Given the description of an element on the screen output the (x, y) to click on. 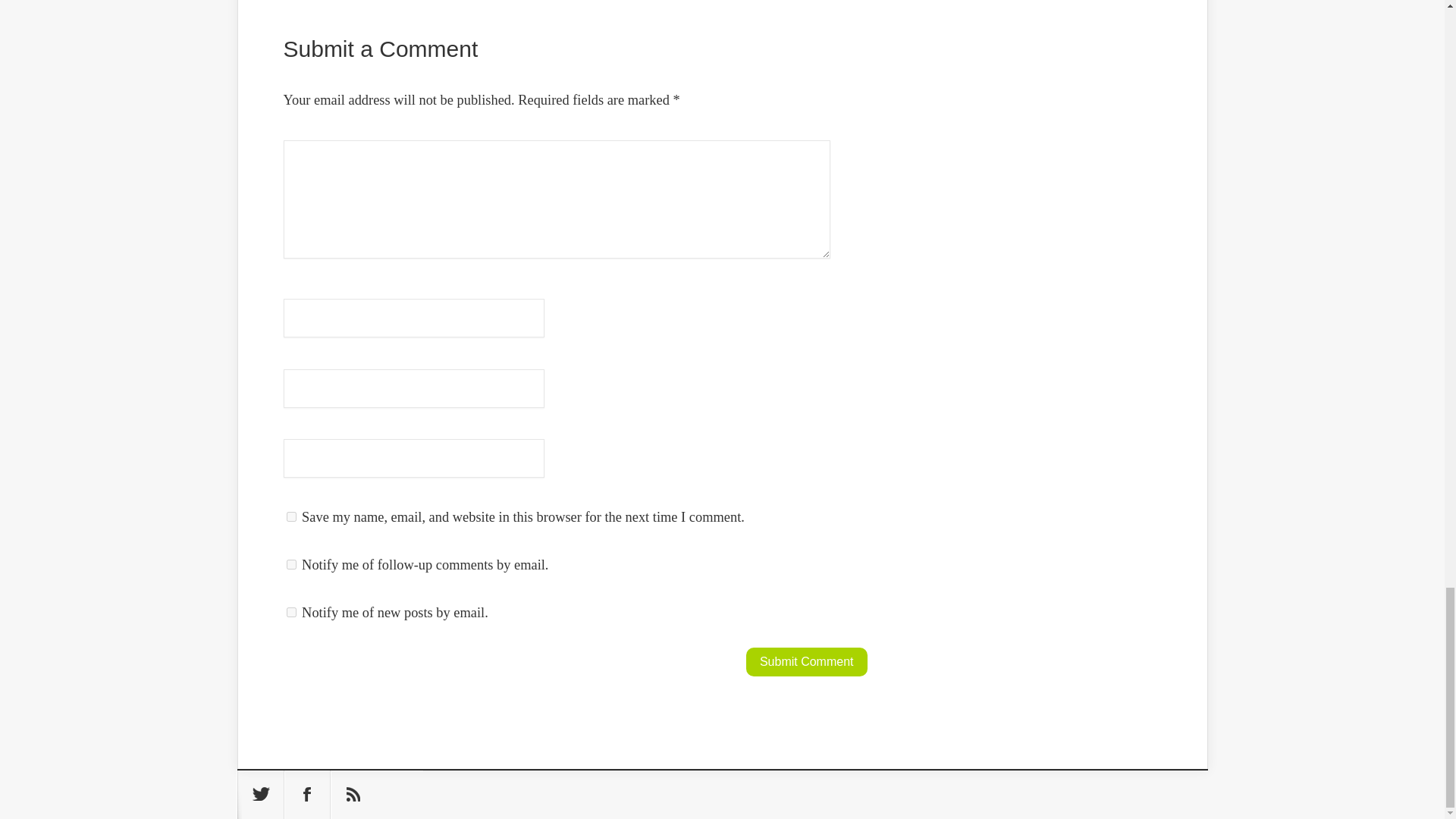
yes (291, 516)
Submit Comment (806, 661)
subscribe (291, 612)
subscribe (291, 564)
Submit Comment (806, 661)
